Given the description of an element on the screen output the (x, y) to click on. 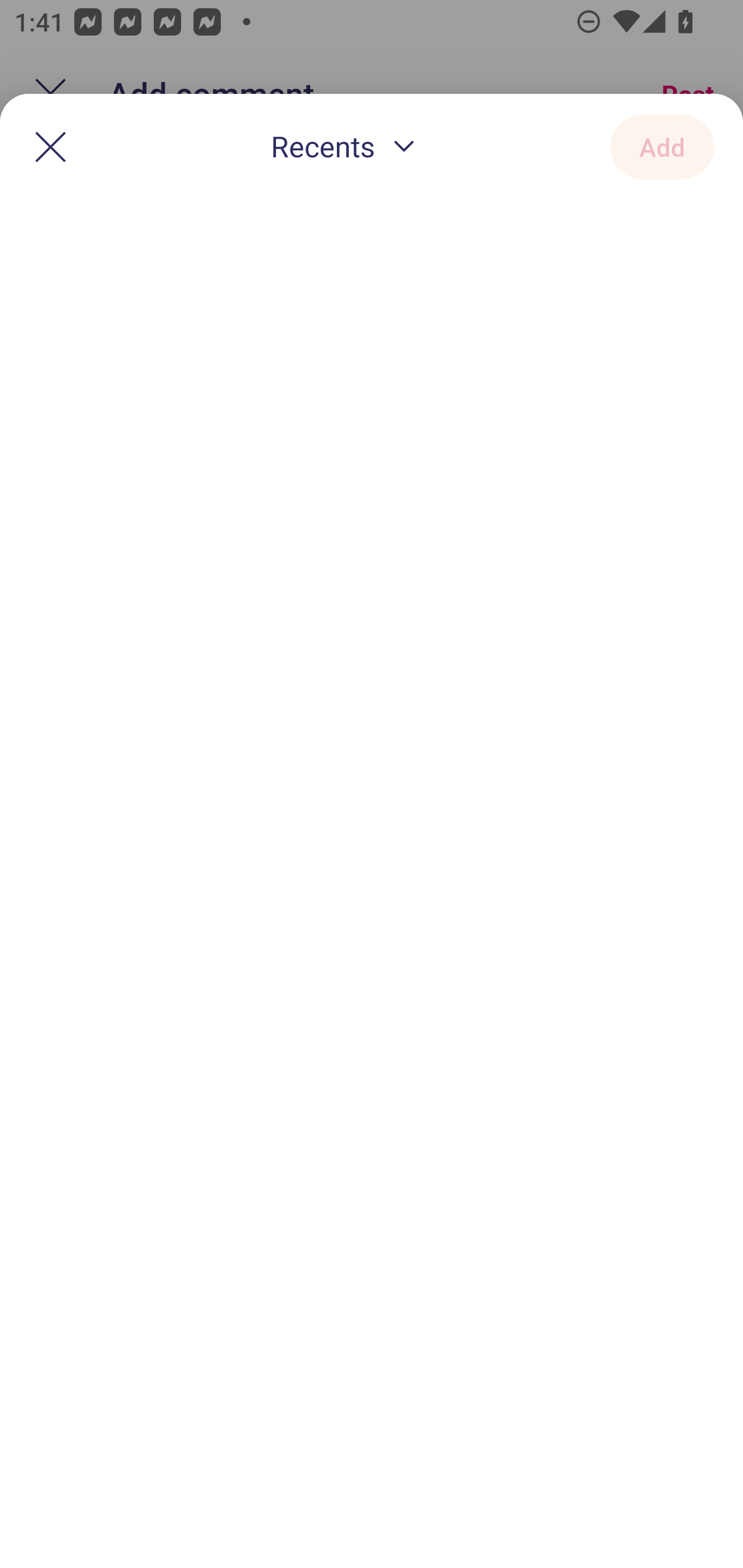
Selected folder: Recents Recents (346, 147)
Close (50, 146)
Add (662, 146)
